Given the description of an element on the screen output the (x, y) to click on. 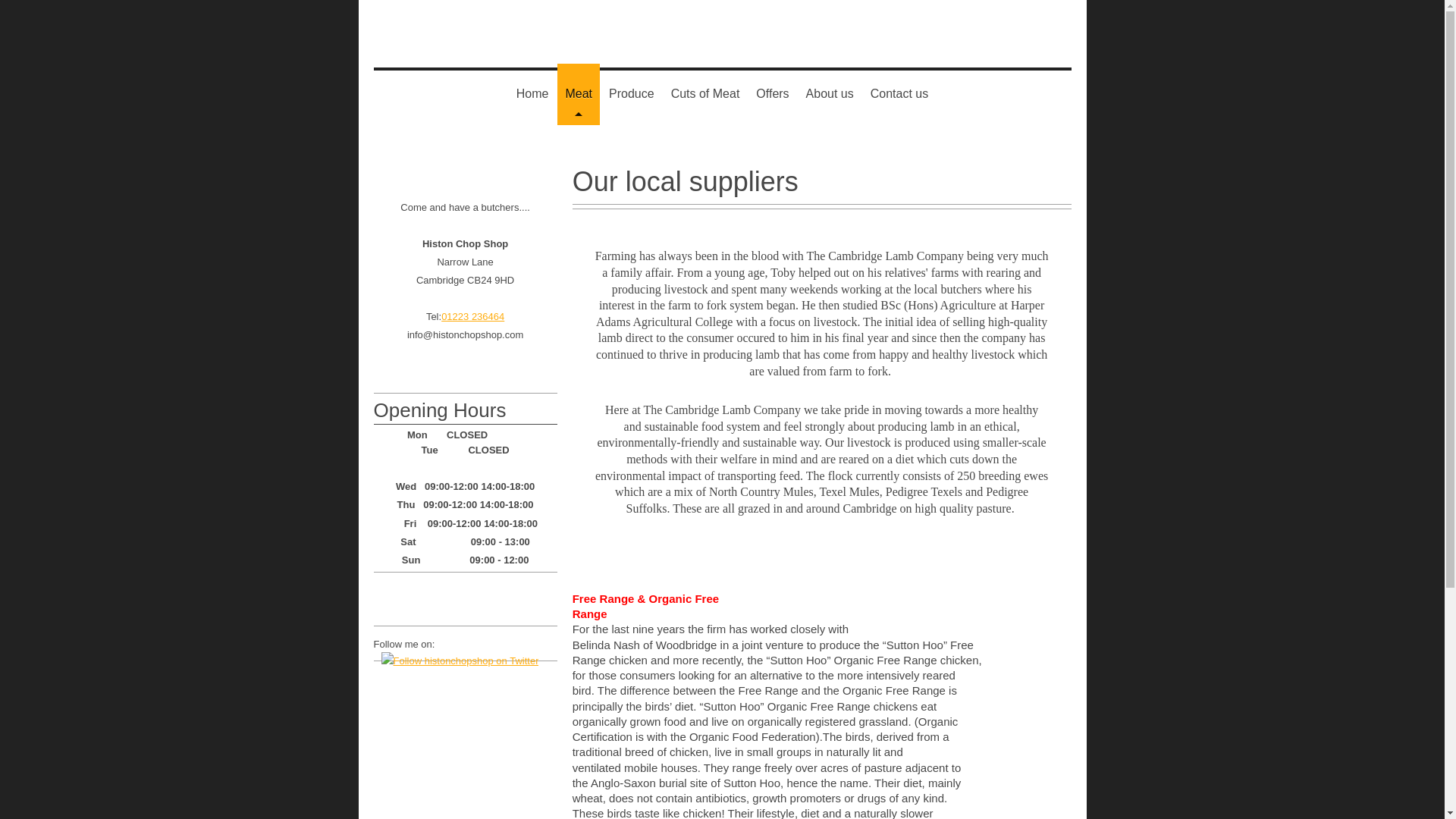
Cuts of Meat (705, 94)
Contact us (899, 94)
01223 236464 (472, 316)
About us (829, 94)
Produce (631, 94)
